Given the description of an element on the screen output the (x, y) to click on. 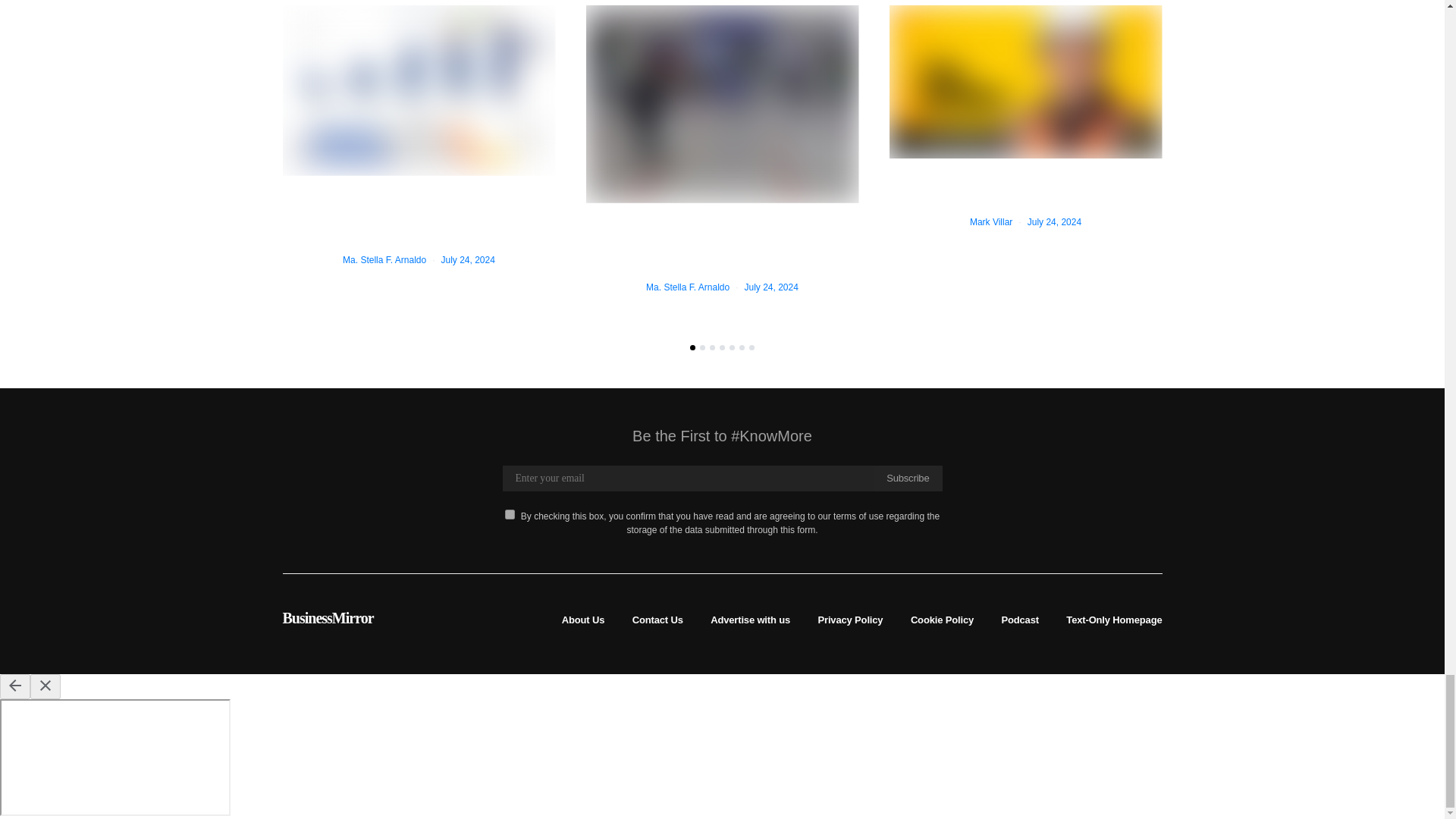
on (510, 514)
View all posts by Ma. Stella F. Arnaldo (687, 286)
View all posts by Ma. Stella F. Arnaldo (384, 259)
View all posts by Mark Villar (990, 222)
